Given the description of an element on the screen output the (x, y) to click on. 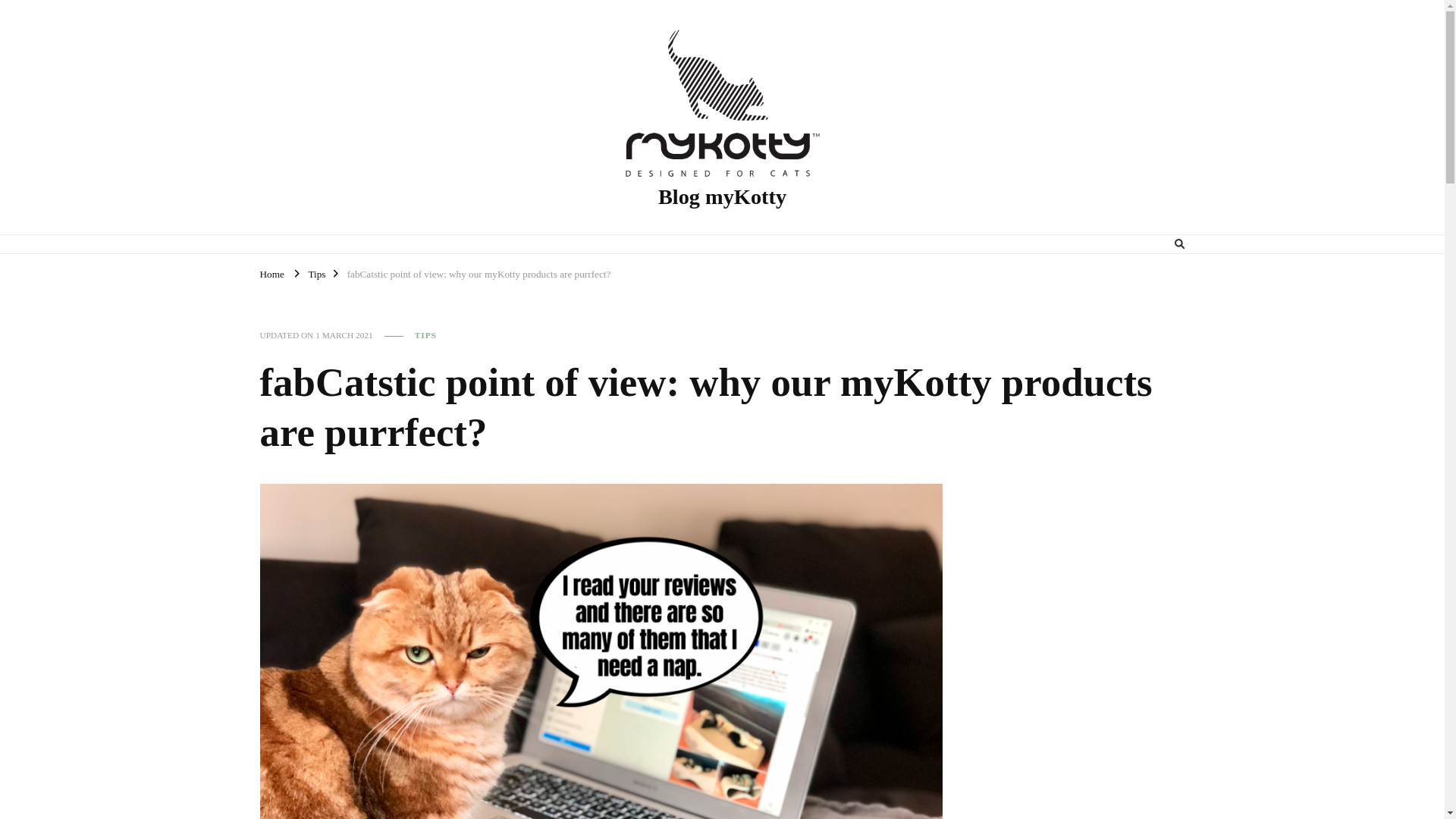
Search (1151, 243)
1 MARCH 2021 (343, 335)
Tips (315, 272)
Home (271, 272)
Blog myKotty (722, 196)
TIPS (425, 335)
